Given the description of an element on the screen output the (x, y) to click on. 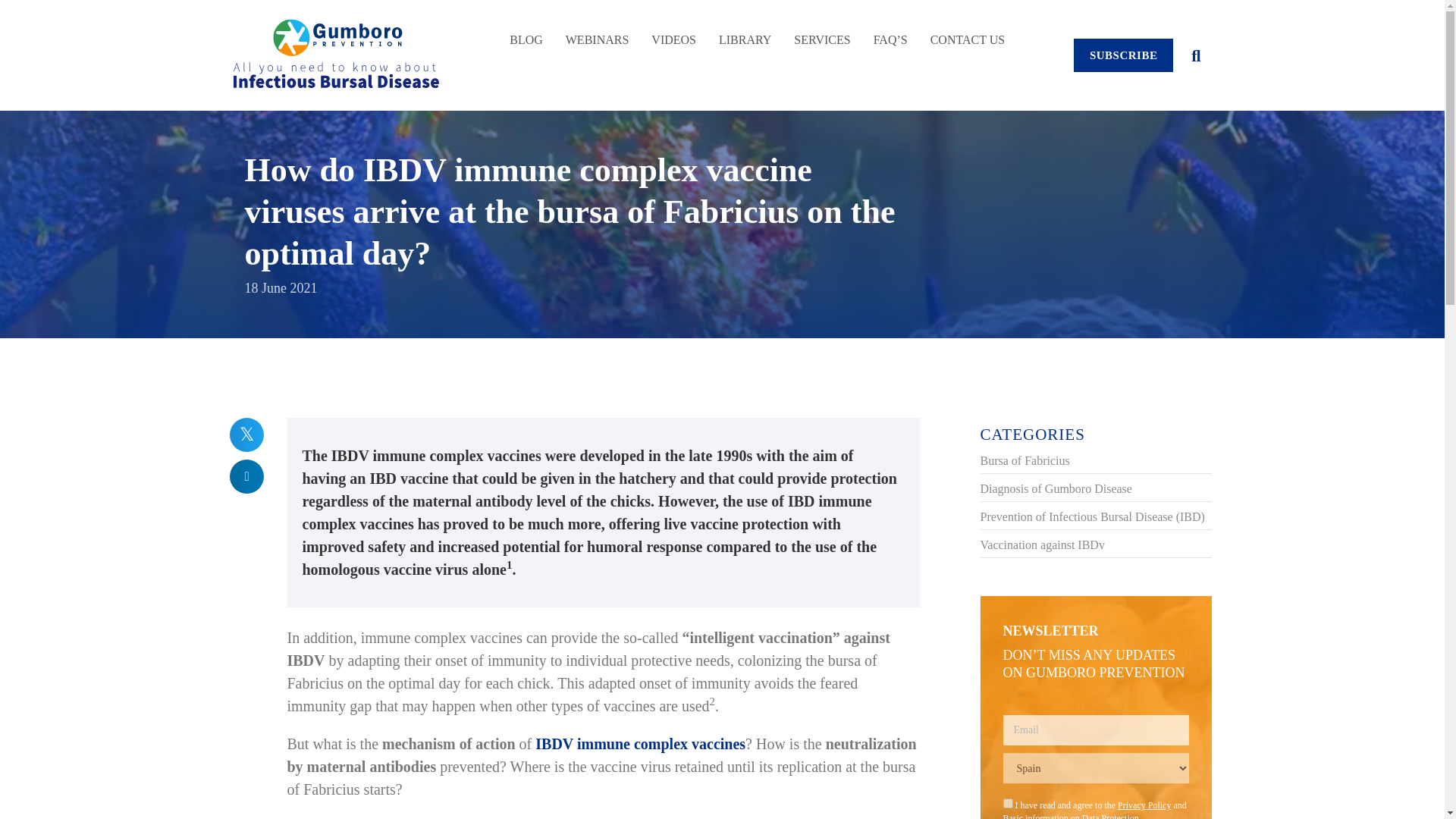
1 (1007, 803)
WEBINARS (597, 32)
BLOG (525, 32)
IBDV immune complex vaccines (640, 743)
Privacy Policy (1144, 805)
Vaccination against IBDv (1041, 544)
Diagnosis of Gumboro Disease (1055, 488)
VIDEOS (673, 32)
Basic information on Data Protection (1070, 816)
LIBRARY (745, 32)
